Given the description of an element on the screen output the (x, y) to click on. 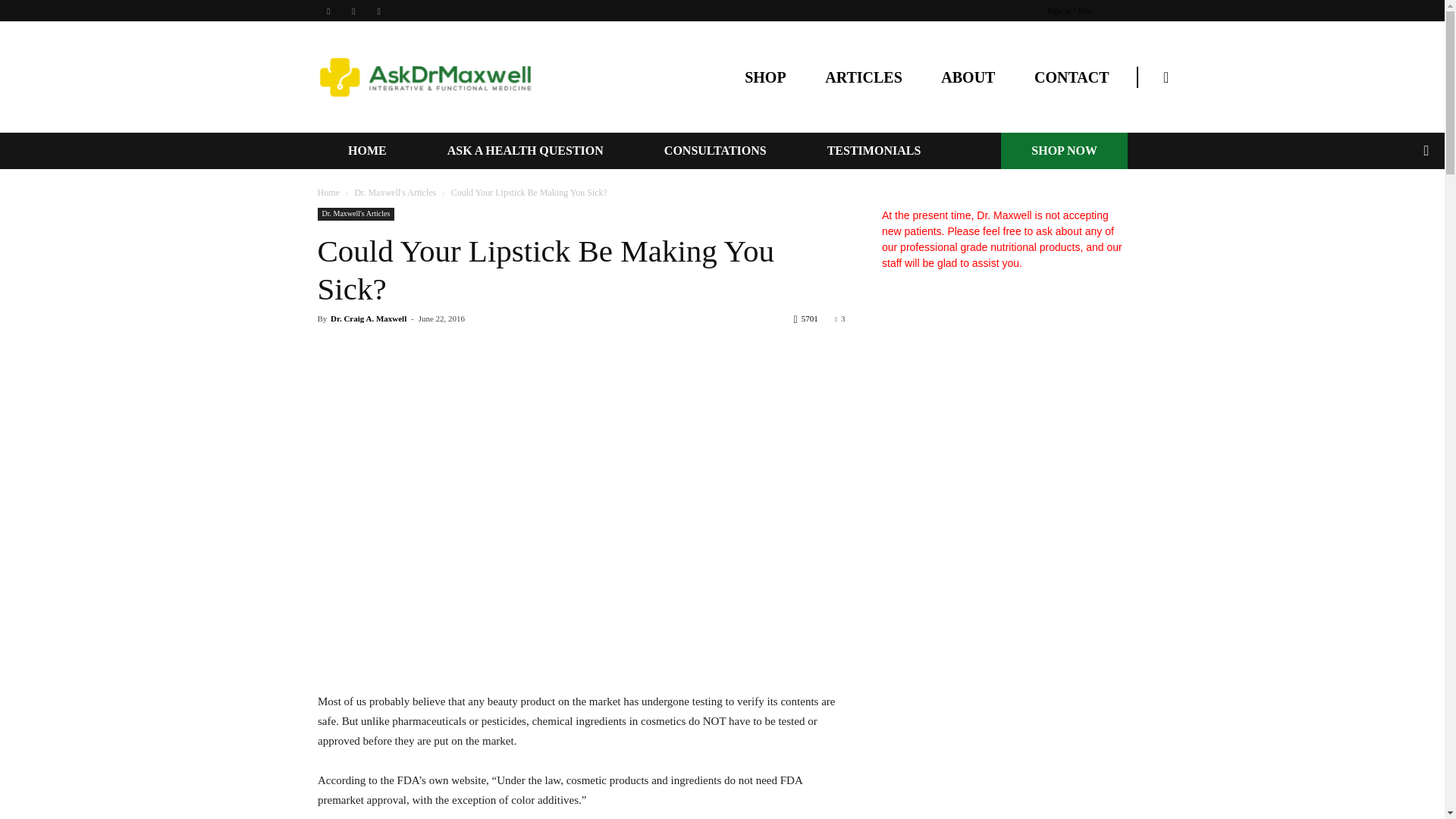
CONTACT (1072, 76)
SHOP (764, 76)
ARTICLES (863, 76)
ABOUT (968, 76)
Twitter (379, 10)
View all posts in Dr. Maxwell's Articles (394, 192)
Facebook (328, 10)
